Given the description of an element on the screen output the (x, y) to click on. 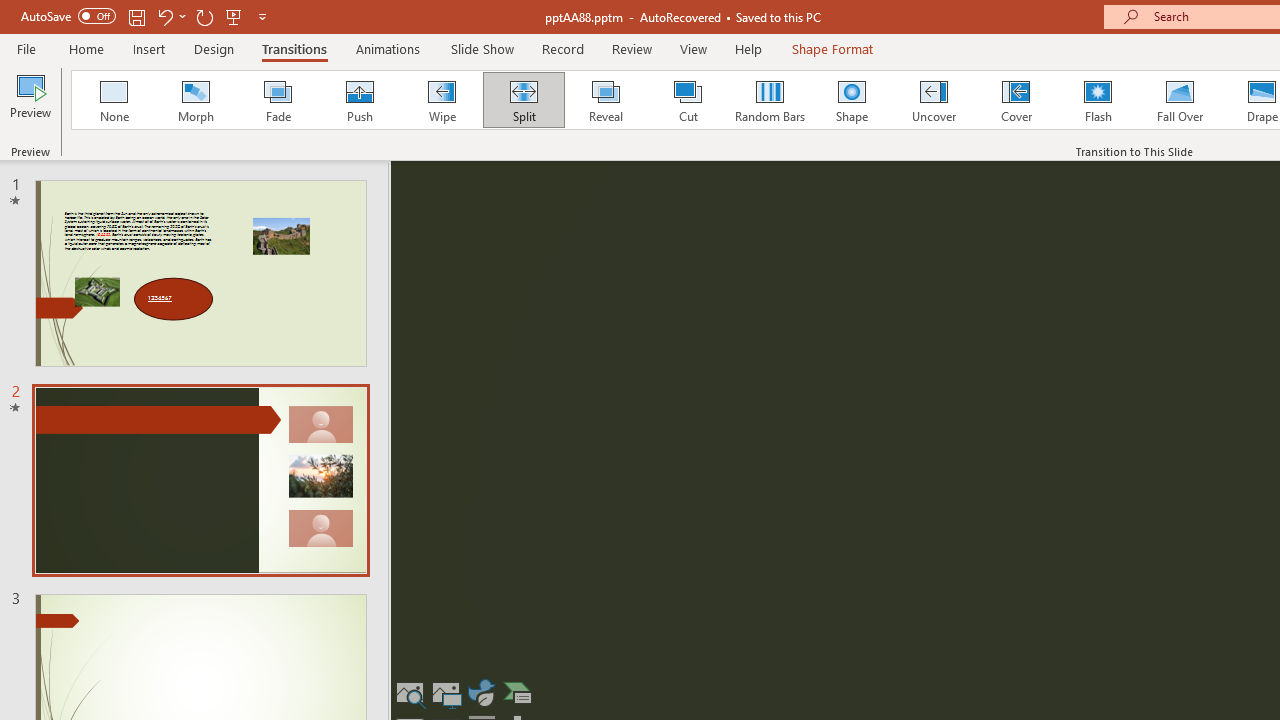
Uncover (934, 100)
Fade (277, 100)
Split (523, 100)
Shape Format (832, 48)
Preview (30, 102)
Cover (1016, 100)
Fall Over (1180, 100)
